Given the description of an element on the screen output the (x, y) to click on. 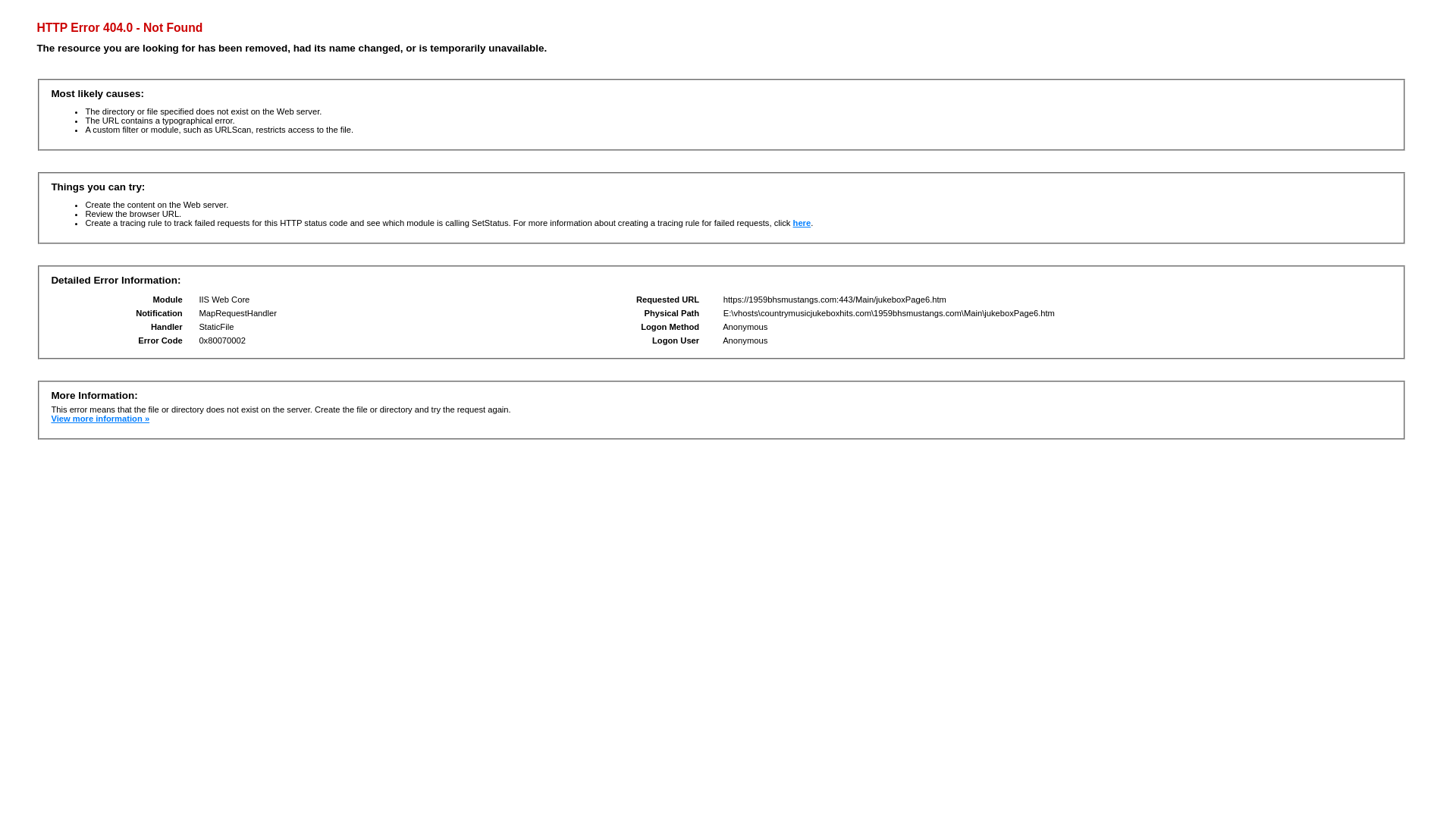
here Element type: text (802, 222)
